Given the description of an element on the screen output the (x, y) to click on. 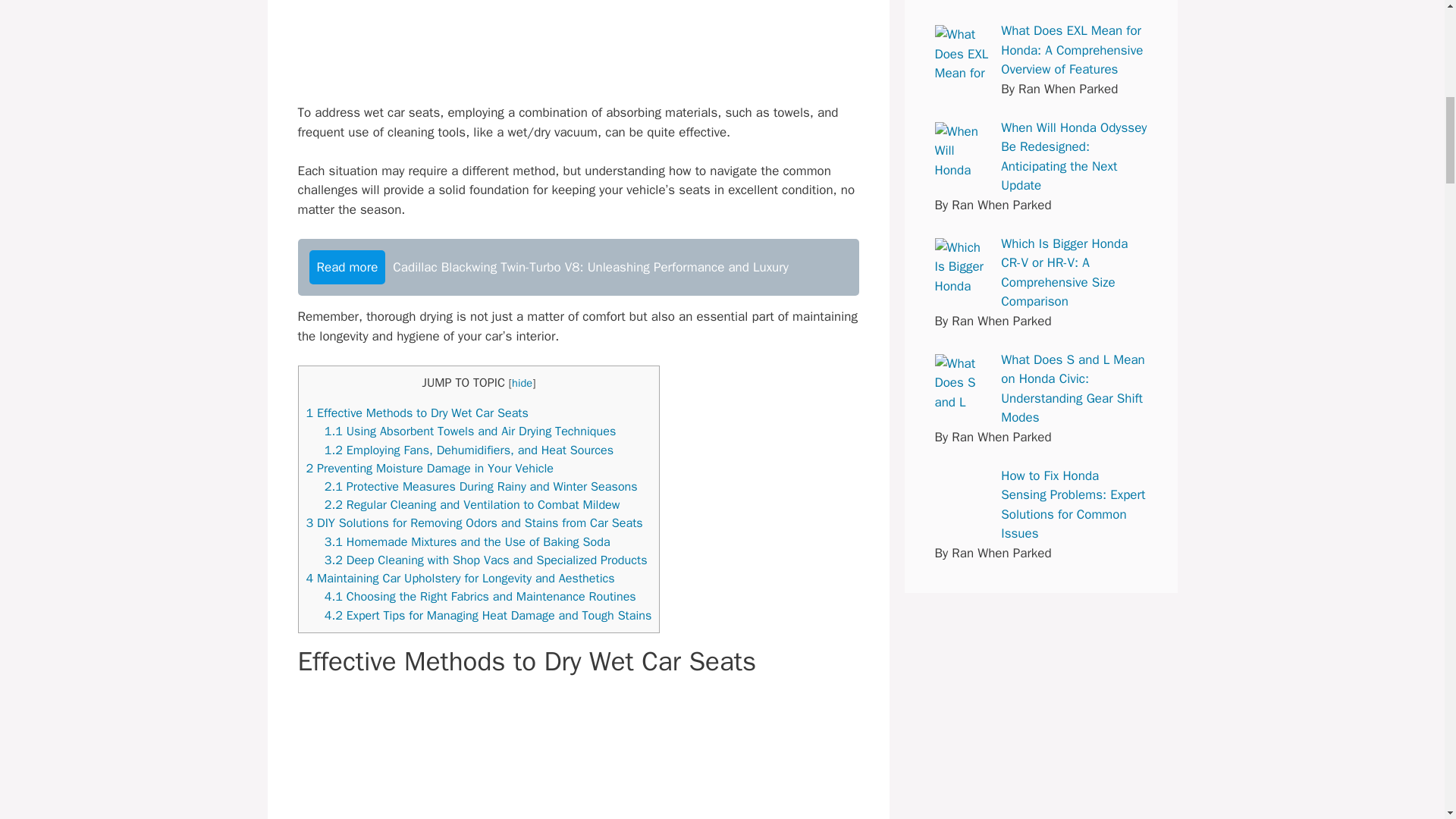
1.1 Using Absorbent Towels and Air Drying Techniques (469, 430)
2.2 Regular Cleaning and Ventilation to Combat Mildew (472, 504)
3 DIY Solutions for Removing Odors and Stains from Car Seats (474, 522)
1 Effective Methods to Dry Wet Car Seats (416, 412)
2 Preventing Moisture Damage in Your Vehicle (429, 467)
hide (522, 382)
3.1 Homemade Mixtures and the Use of Baking Soda (467, 541)
1.2 Employing Fans, Dehumidifiers, and Heat Sources (468, 449)
2.1 Protective Measures During Rainy and Winter Seasons (480, 486)
